Given the description of an element on the screen output the (x, y) to click on. 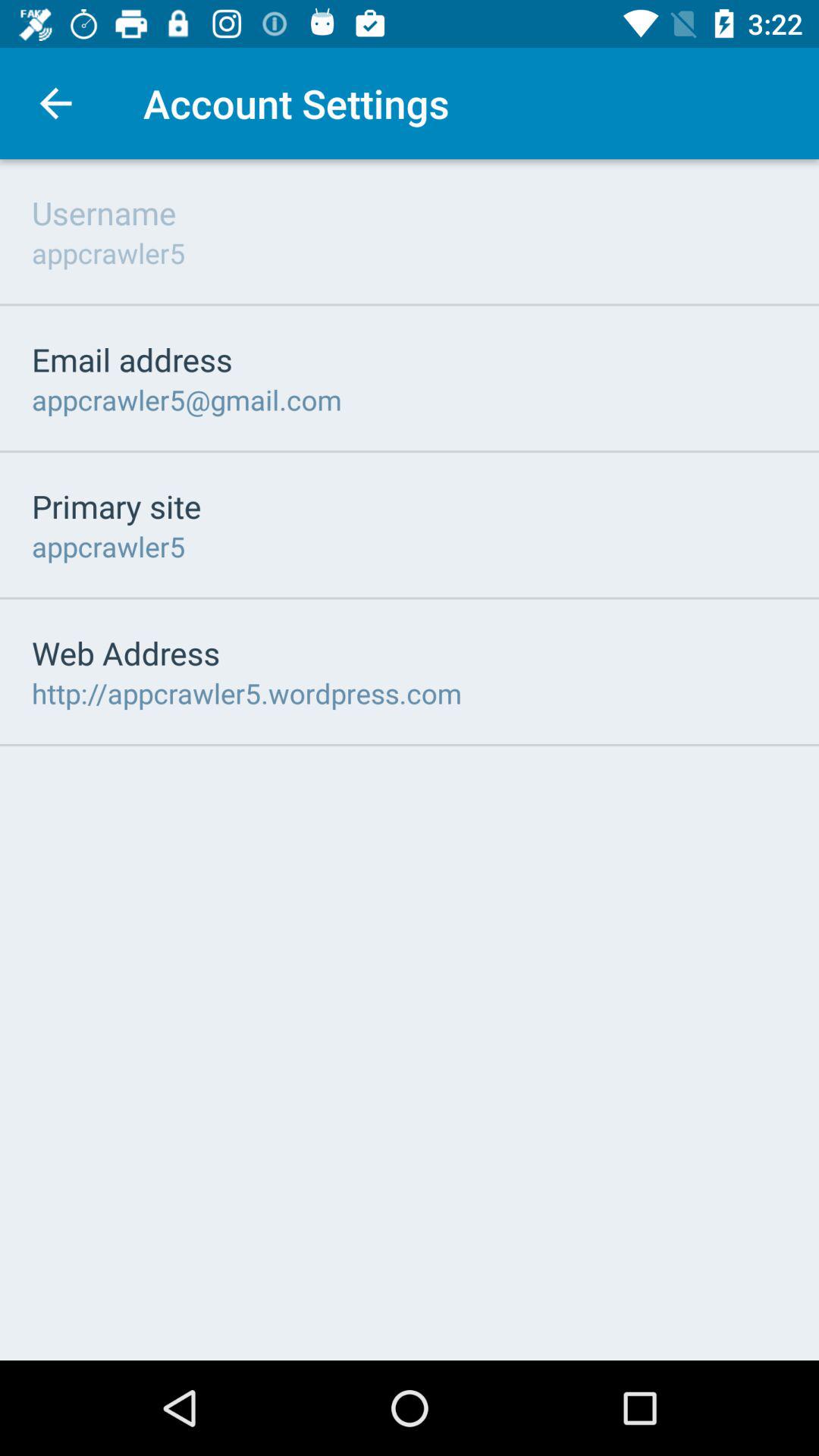
launch icon above the appcrawler5@gmail.com (131, 359)
